Given the description of an element on the screen output the (x, y) to click on. 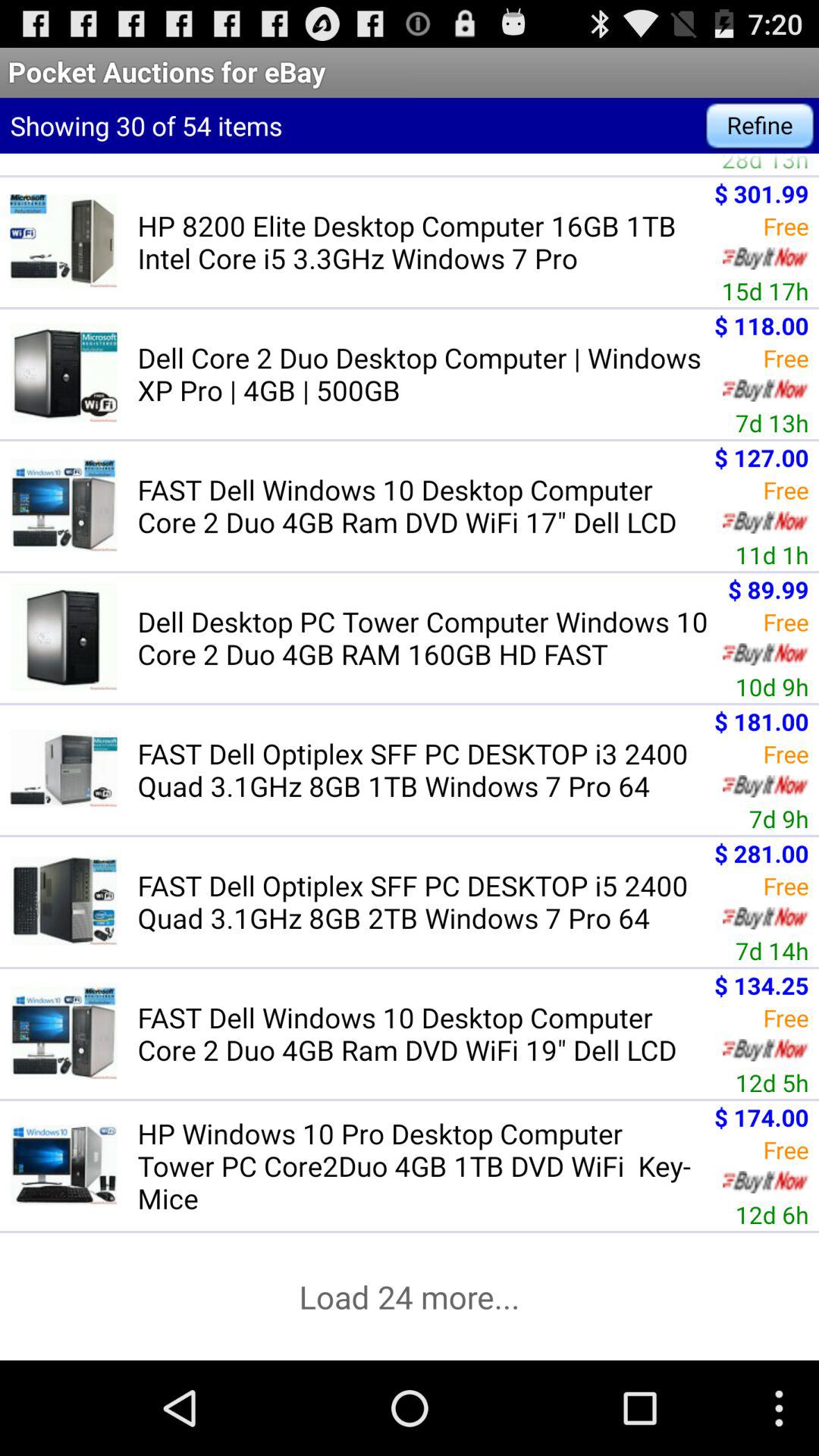
open the icon above the $ 301.99 (764, 164)
